Given the description of an element on the screen output the (x, y) to click on. 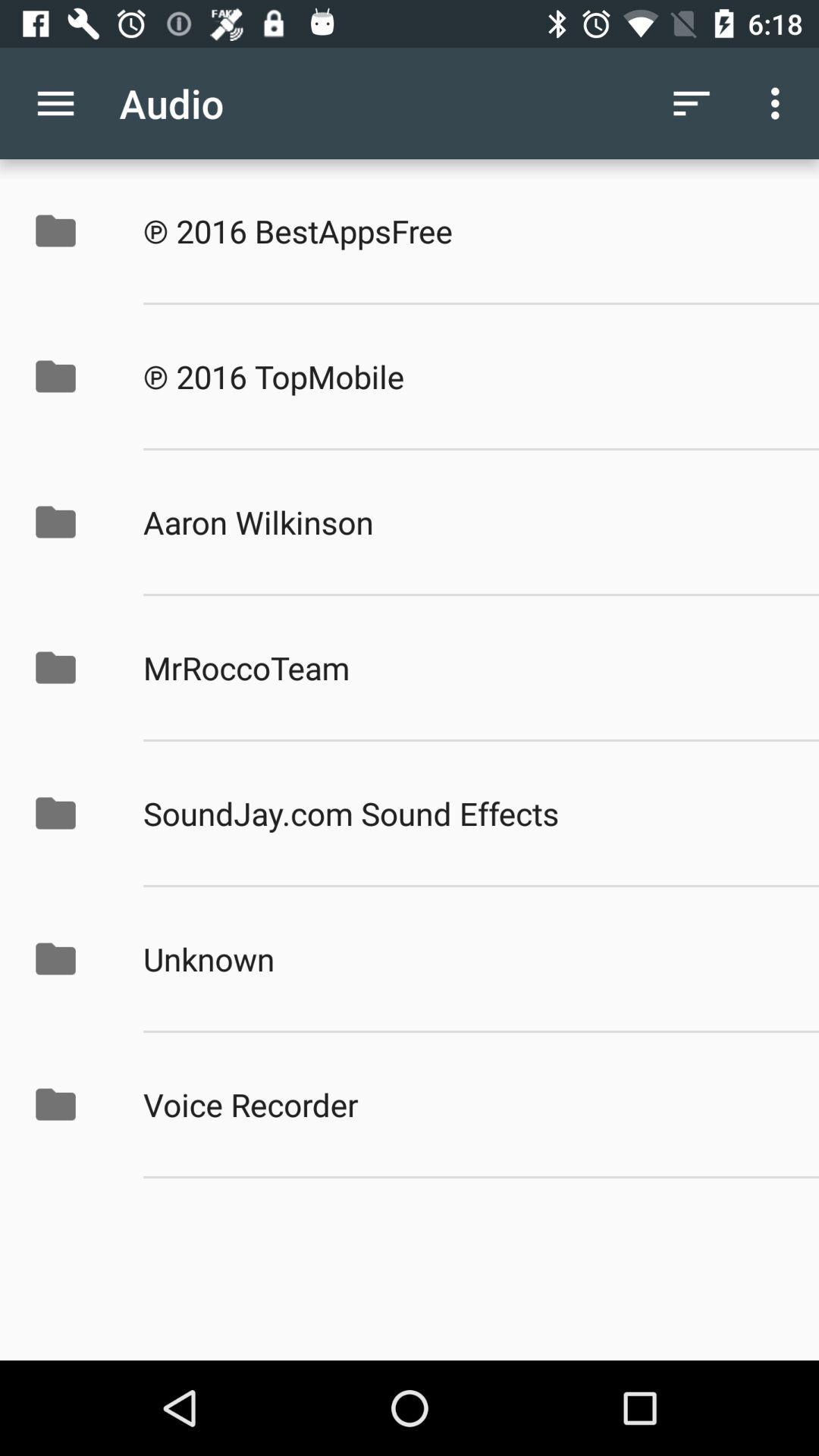
swipe until the soundjay com sound item (465, 812)
